Given the description of an element on the screen output the (x, y) to click on. 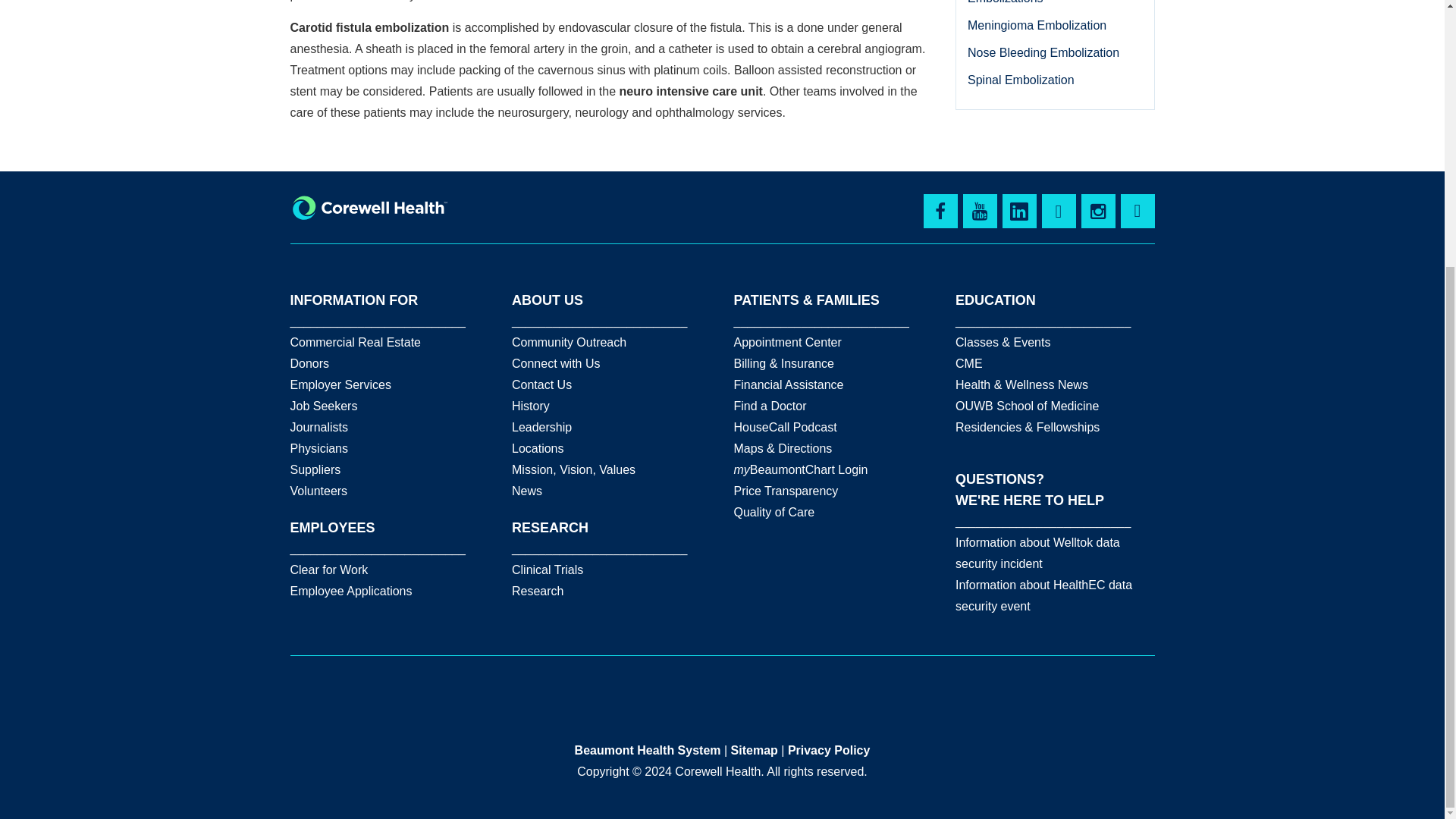
Nose Bleeding Embolization (1043, 51)
Embolizations (1005, 2)
Meningioma Embolization (1037, 24)
Back to home page (368, 207)
Spinal Embolization (1021, 79)
